Given the description of an element on the screen output the (x, y) to click on. 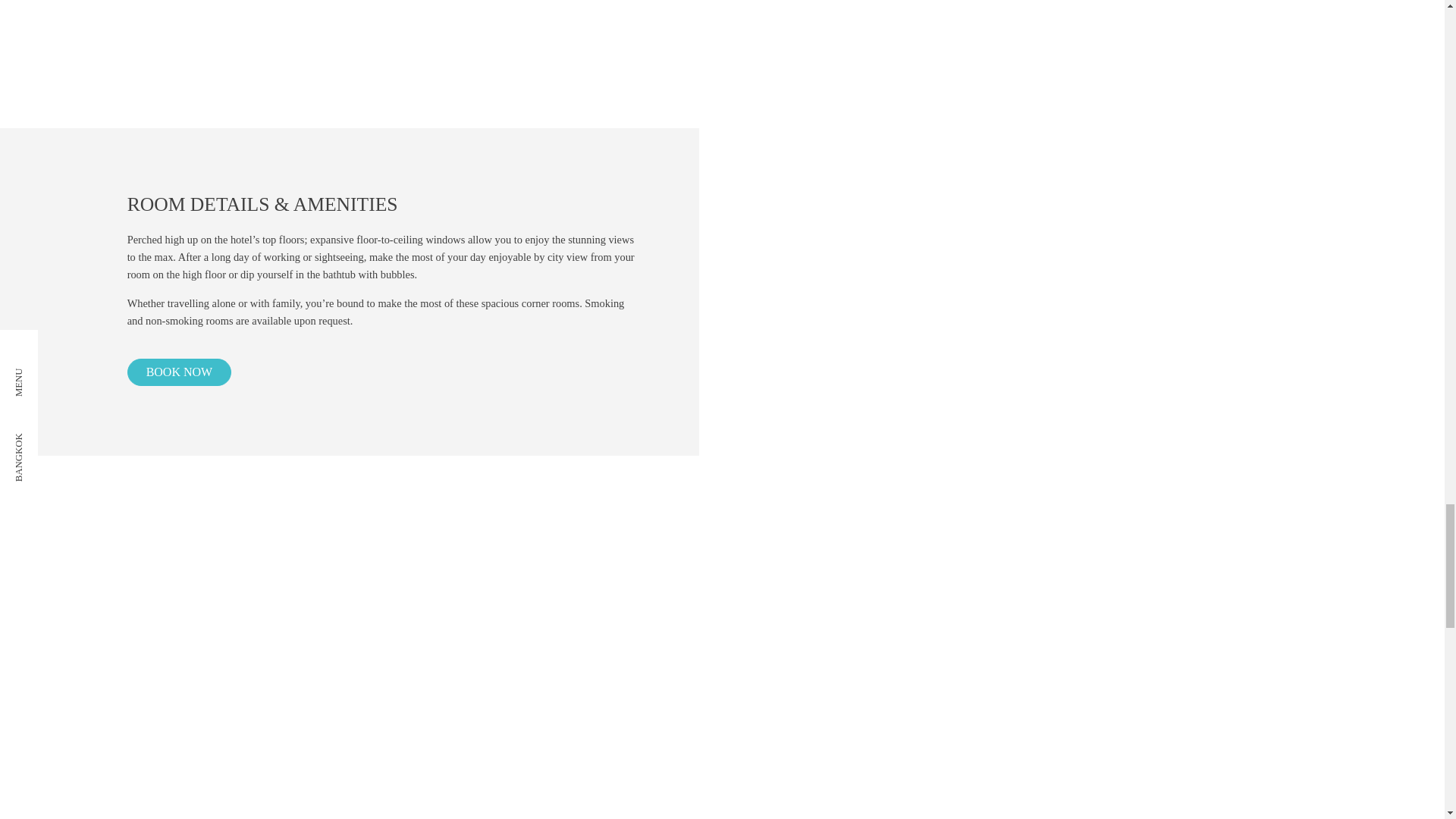
BOOK NOW (179, 371)
